Given the description of an element on the screen output the (x, y) to click on. 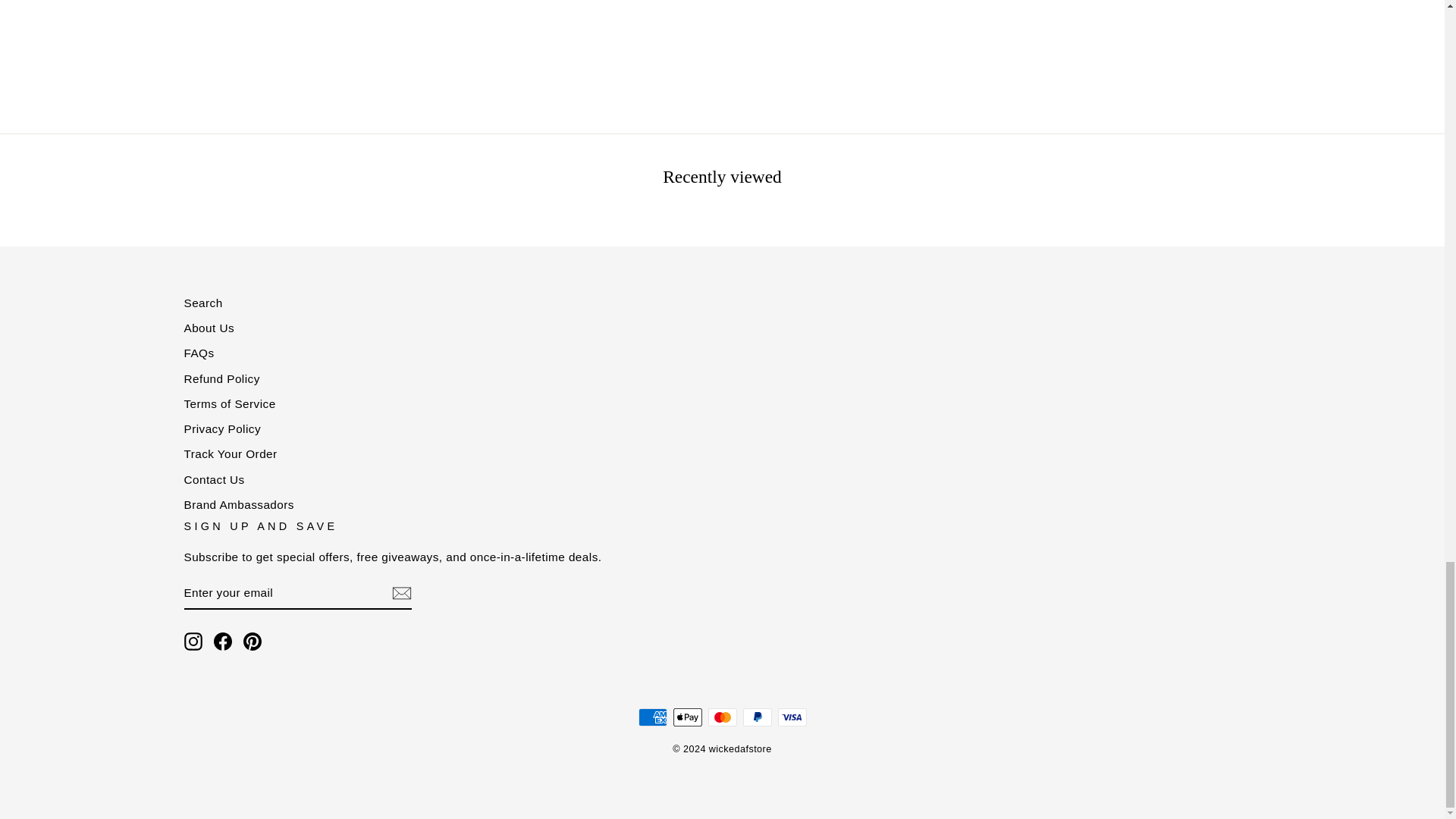
Apple Pay (686, 717)
wickedafstore on Instagram (192, 641)
American Express (652, 717)
wickedafstore on Facebook (222, 641)
wickedafstore on Pinterest (251, 641)
